Given the description of an element on the screen output the (x, y) to click on. 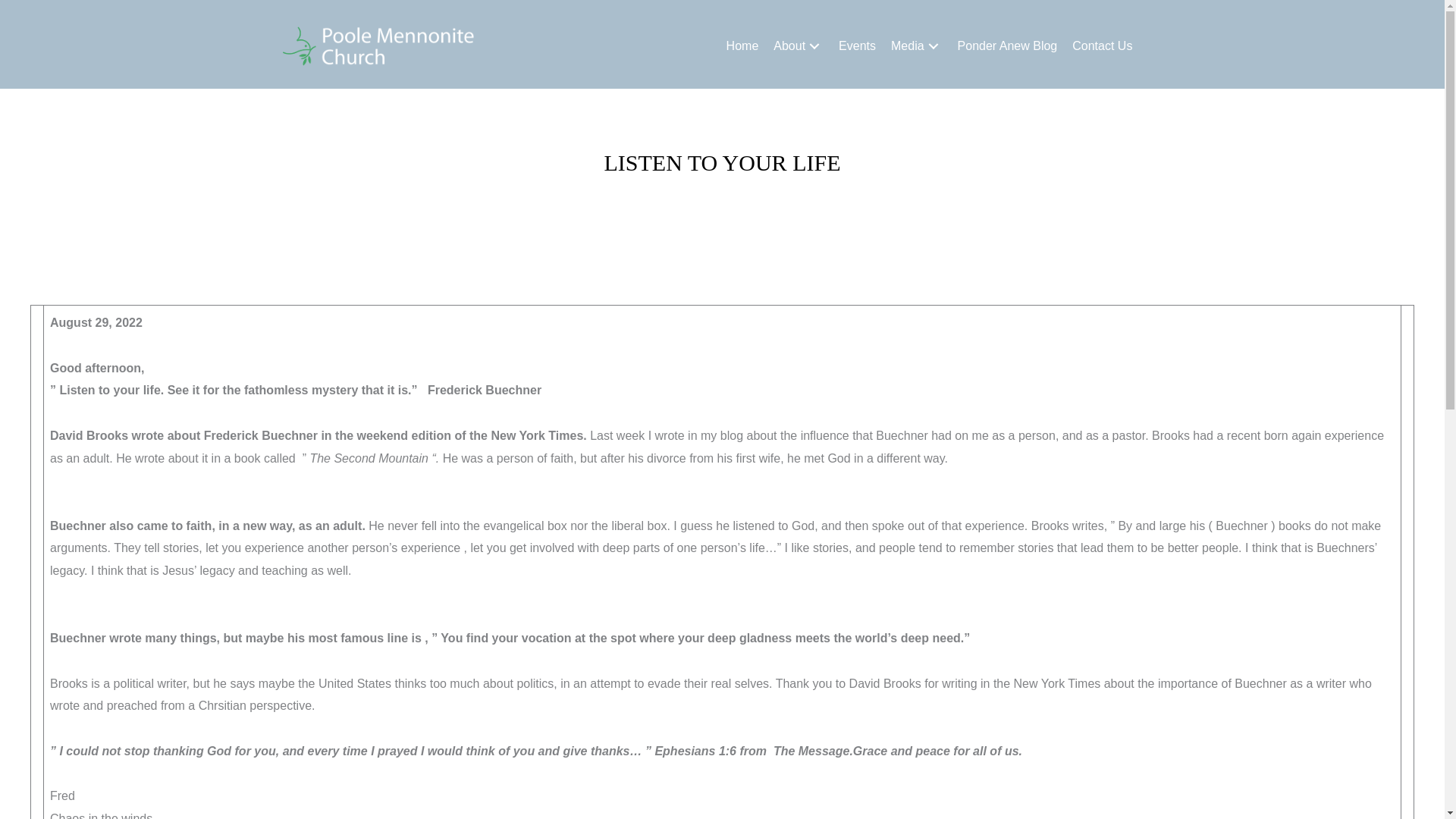
Contact Us (1102, 46)
Ponder Anew Blog (1007, 46)
Home (743, 46)
PooleLogo2 (378, 46)
Fred Redekop (735, 202)
No Comments (825, 202)
About (798, 46)
Media (916, 46)
Events (857, 46)
